Given the description of an element on the screen output the (x, y) to click on. 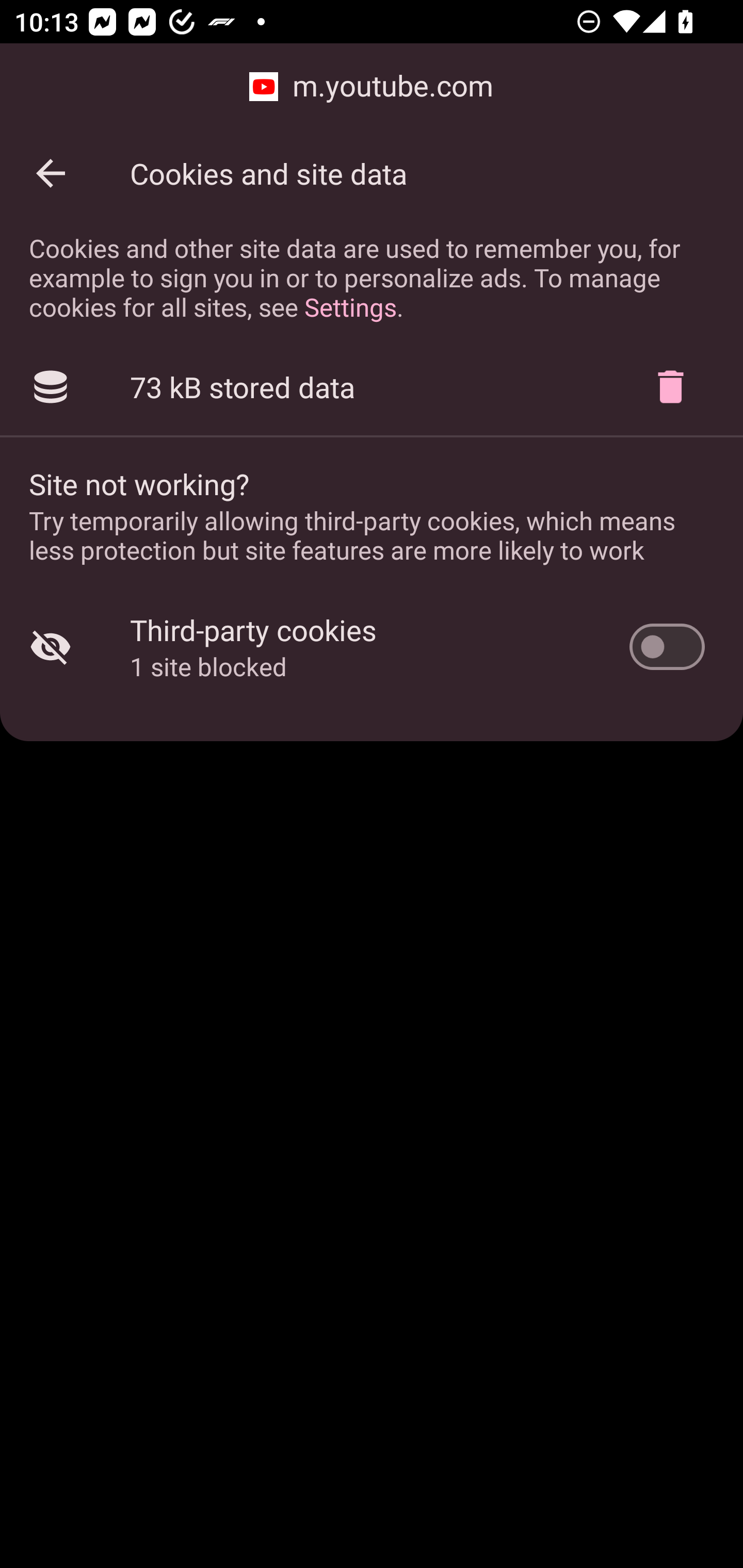
m.youtube.com (371, 86)
Back (50, 173)
73 kB stored data Delete cookies? (371, 386)
Third-party cookies 1 site blocked (371, 646)
